Given the description of an element on the screen output the (x, y) to click on. 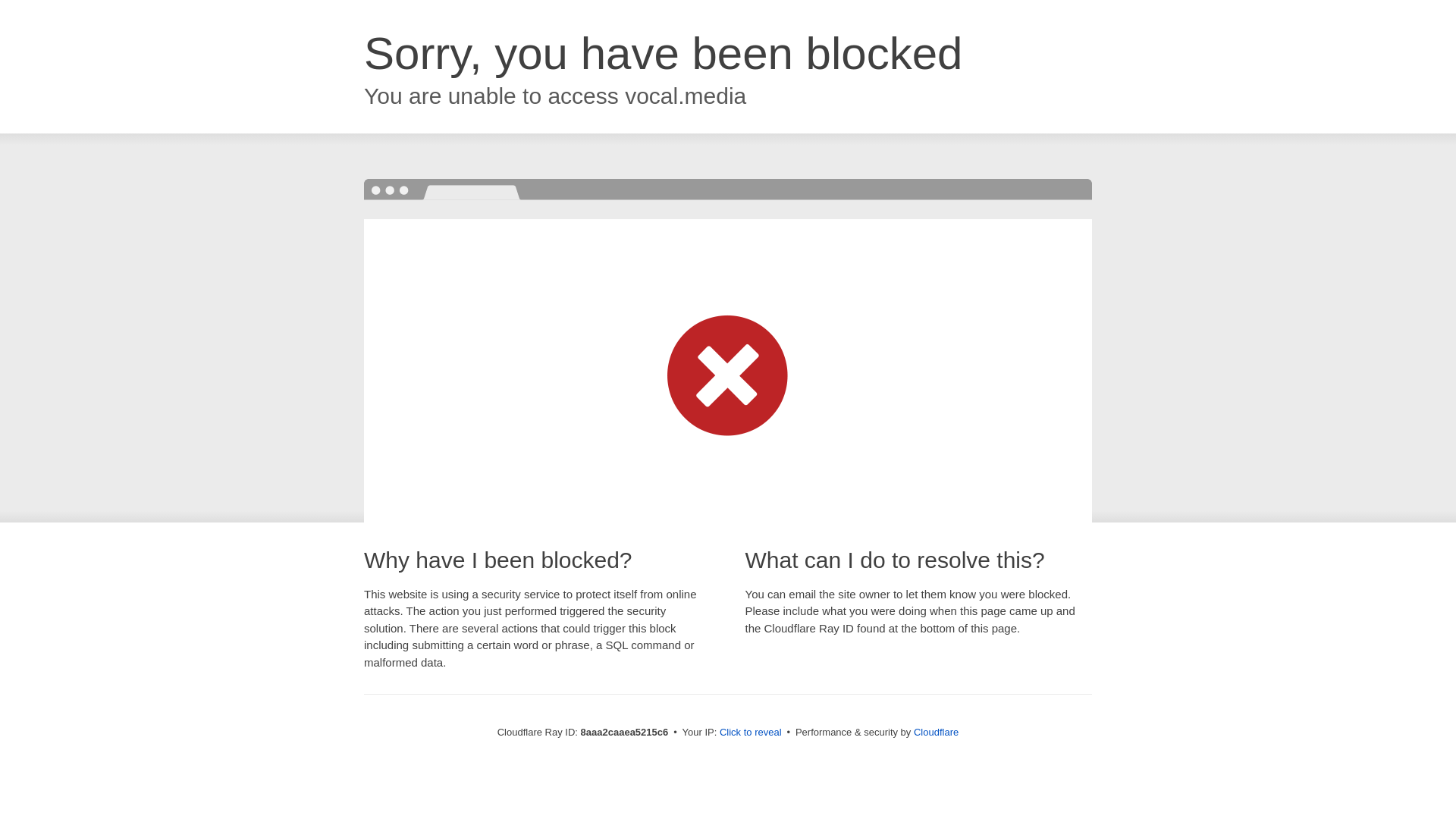
Cloudflare (936, 731)
Click to reveal (750, 732)
